Given the description of an element on the screen output the (x, y) to click on. 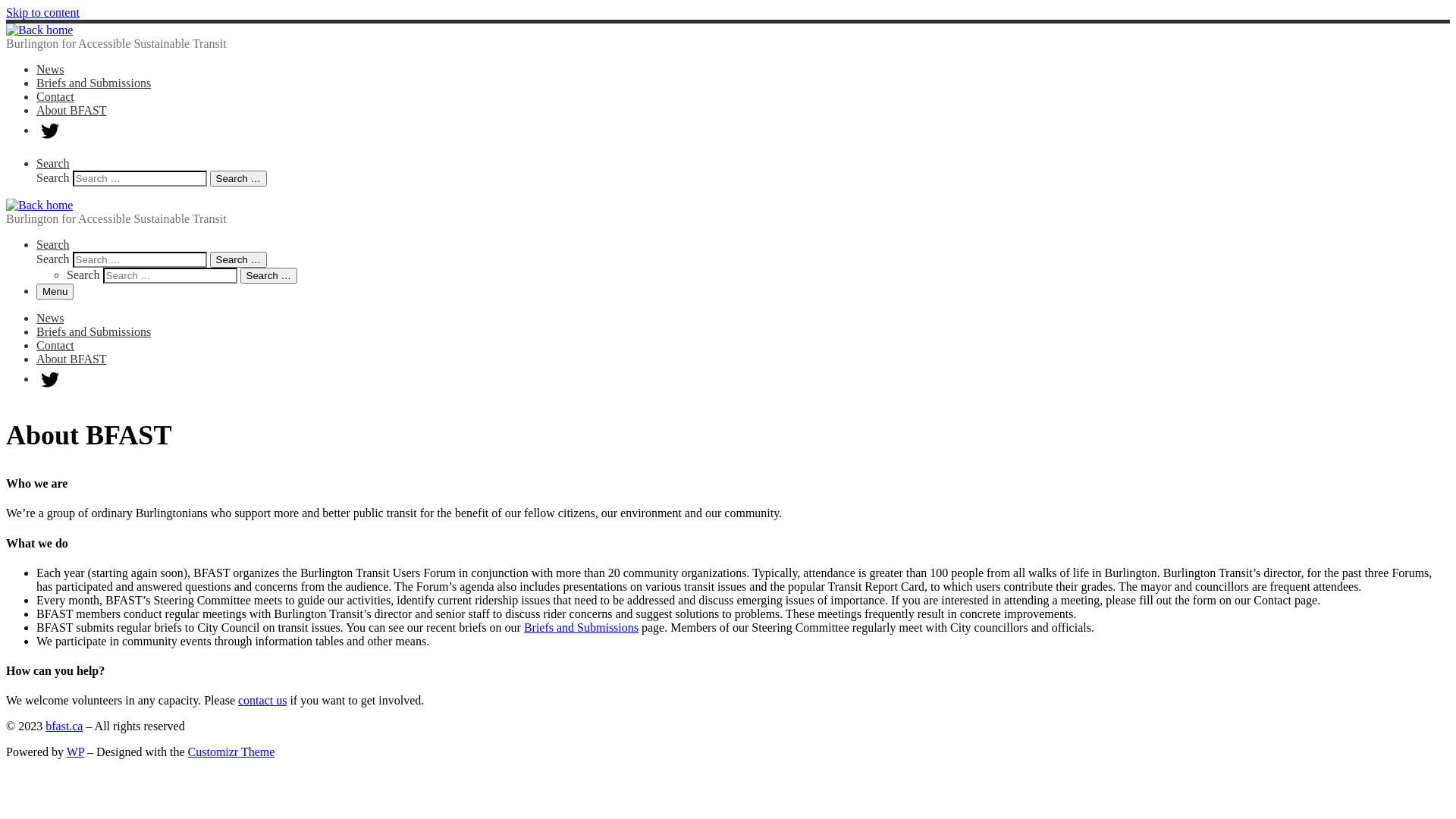
Search Element type: text (52, 244)
About BFAST Element type: text (71, 358)
contact us Element type: text (262, 699)
Customizr Theme Element type: text (231, 751)
WP Element type: text (75, 751)
Menu Element type: text (54, 291)
News Element type: text (49, 317)
News Element type: text (49, 68)
Briefs and Submissions Element type: text (93, 331)
Briefs and Submissions Element type: text (93, 82)
Contact Element type: text (55, 344)
Search Element type: text (52, 162)
About BFAST Element type: text (71, 109)
Briefs and Submissions Element type: text (581, 627)
Skip to content Element type: text (42, 12)
bfast.ca Element type: text (63, 725)
Contact Element type: text (55, 96)
